Given the description of an element on the screen output the (x, y) to click on. 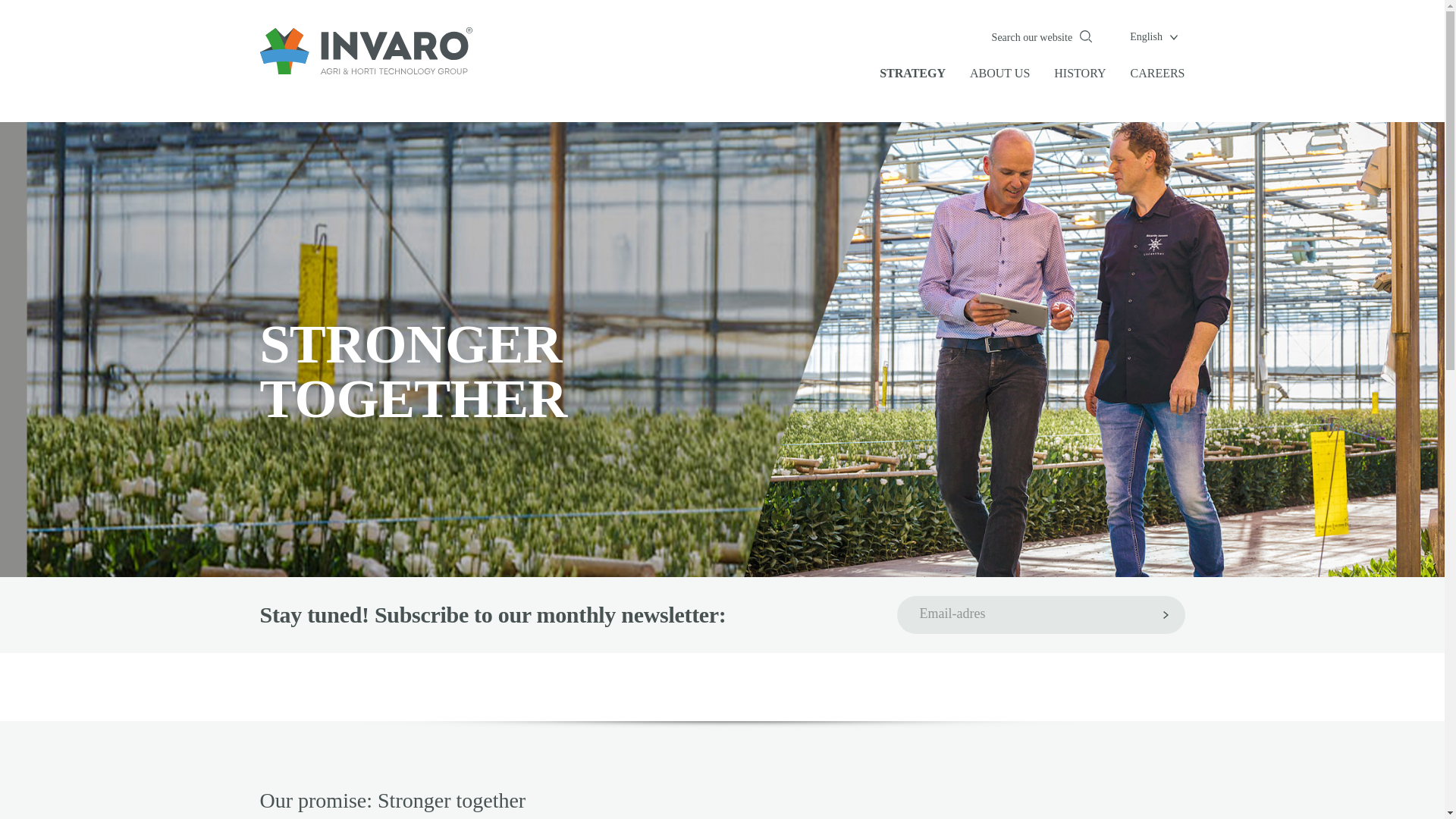
HISTORY (1079, 73)
English (1153, 36)
ABOUT US (999, 73)
CAREERS (1157, 73)
Search our website (1042, 36)
Sign up (1166, 614)
STRATEGY (911, 73)
Sign up (1166, 614)
